Given the description of an element on the screen output the (x, y) to click on. 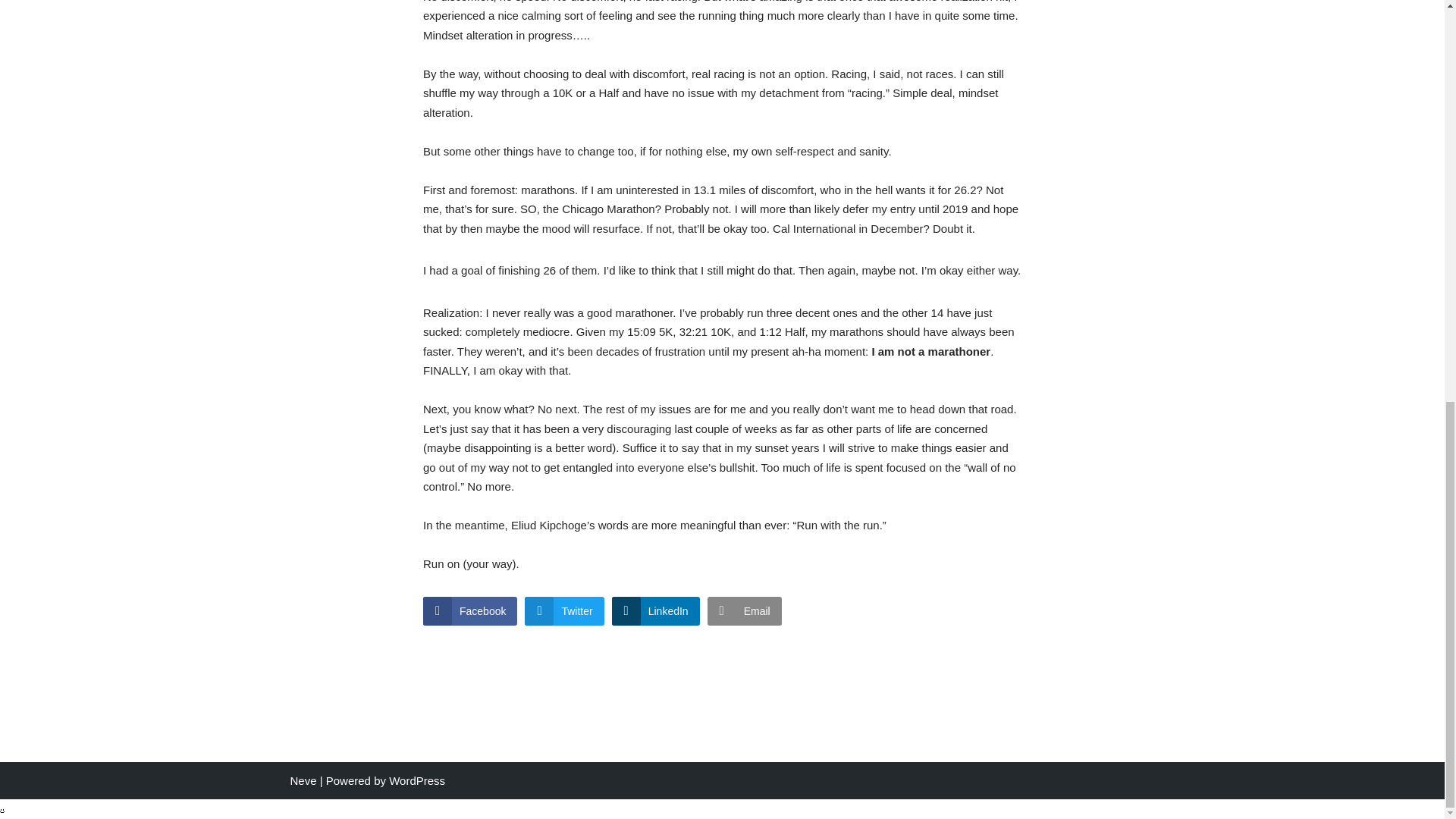
Email (744, 611)
LinkedIn (655, 611)
Twitter (564, 611)
WordPress (416, 780)
Facebook (469, 611)
Neve (302, 780)
